Given the description of an element on the screen output the (x, y) to click on. 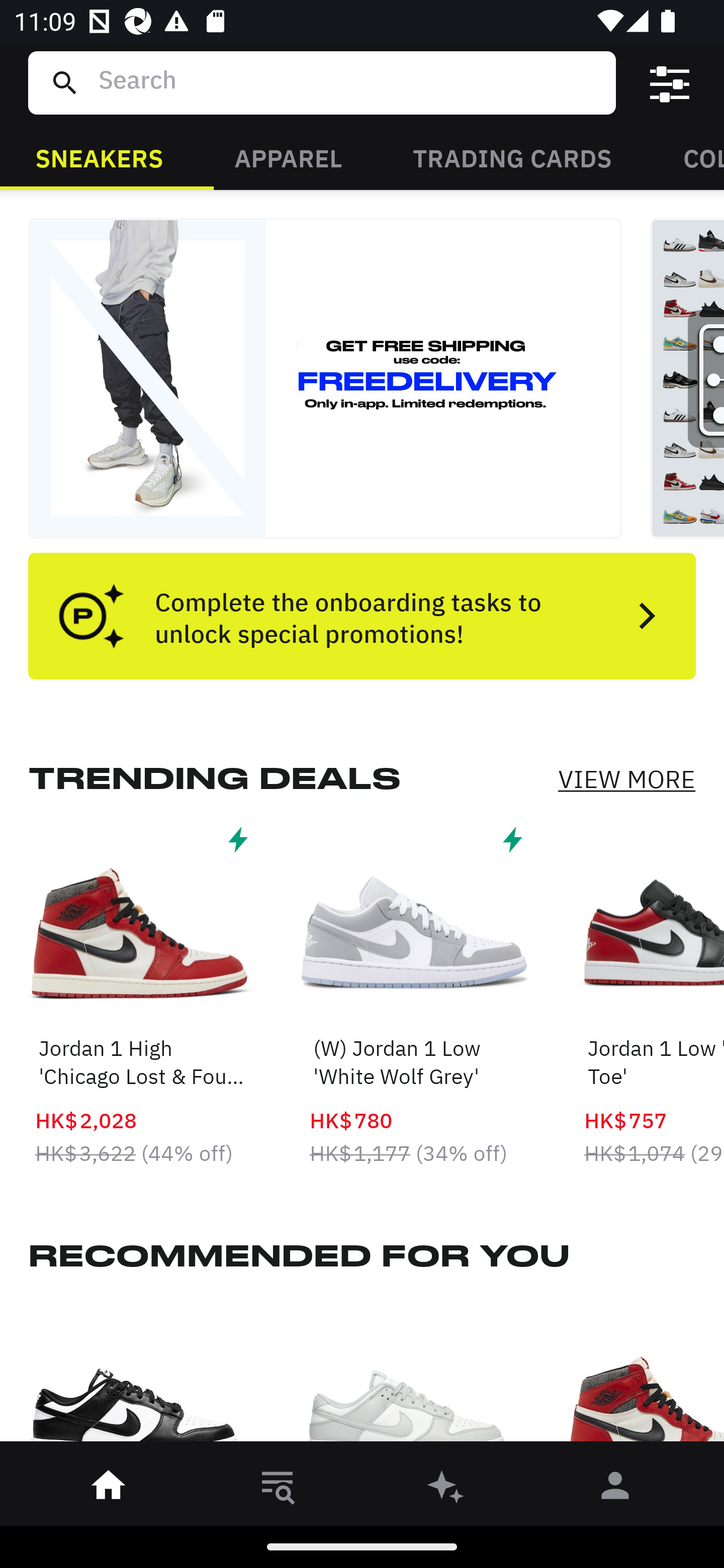
Search (349, 82)
 (669, 82)
SNEAKERS (99, 156)
APPAREL (287, 156)
TRADING CARDS (512, 156)
VIEW MORE (626, 779)
󰋜 (108, 1488)
󱎸 (277, 1488)
󰫢 (446, 1488)
󰀄 (615, 1488)
